Given the description of an element on the screen output the (x, y) to click on. 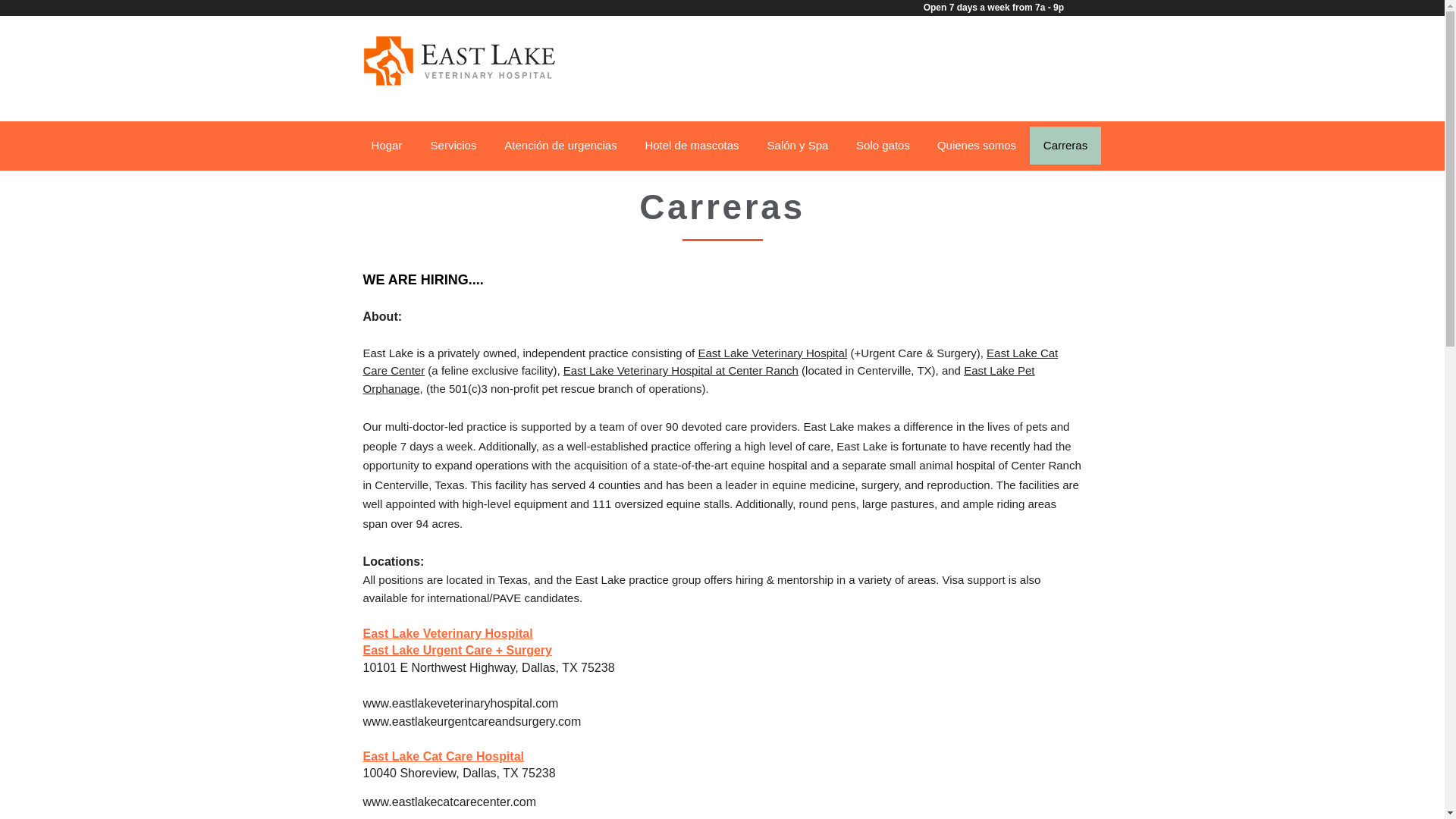
Hogar (387, 145)
Solo gatos (882, 145)
Hotel de mascotas (691, 145)
Quienes somos (976, 145)
Servicios (451, 145)
www.eastlakeveterinaryhospital.com (459, 703)
Carreras (1064, 145)
www.eastlakecatcarecenter.com (448, 801)
www.eastlakeurgentcareandsurgery.com (471, 721)
